Given the description of an element on the screen output the (x, y) to click on. 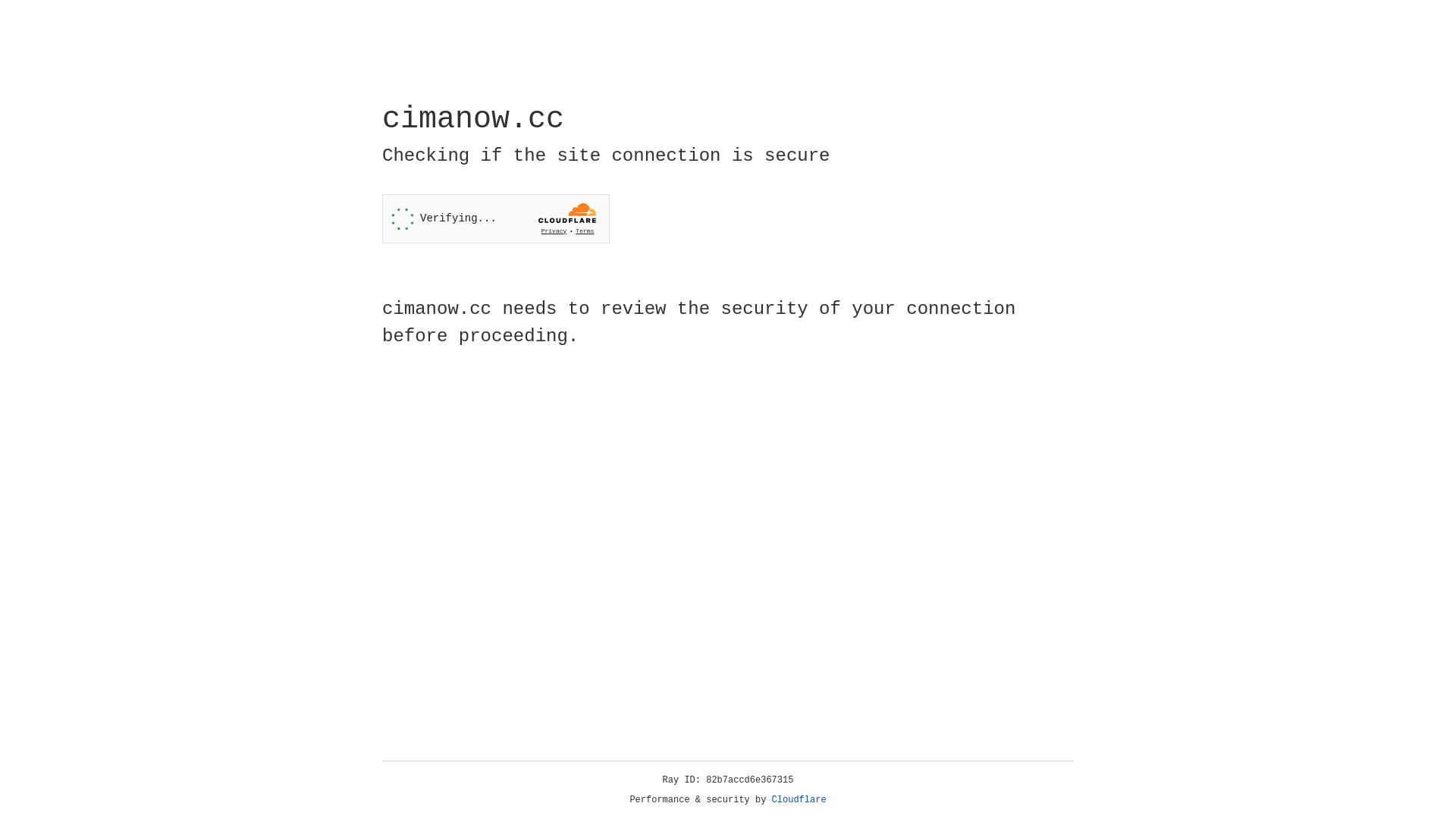
Widget containing a Cloudflare security challenge Element type: hover (495, 218)
Cloudflare Element type: text (798, 799)
